Given the description of an element on the screen output the (x, y) to click on. 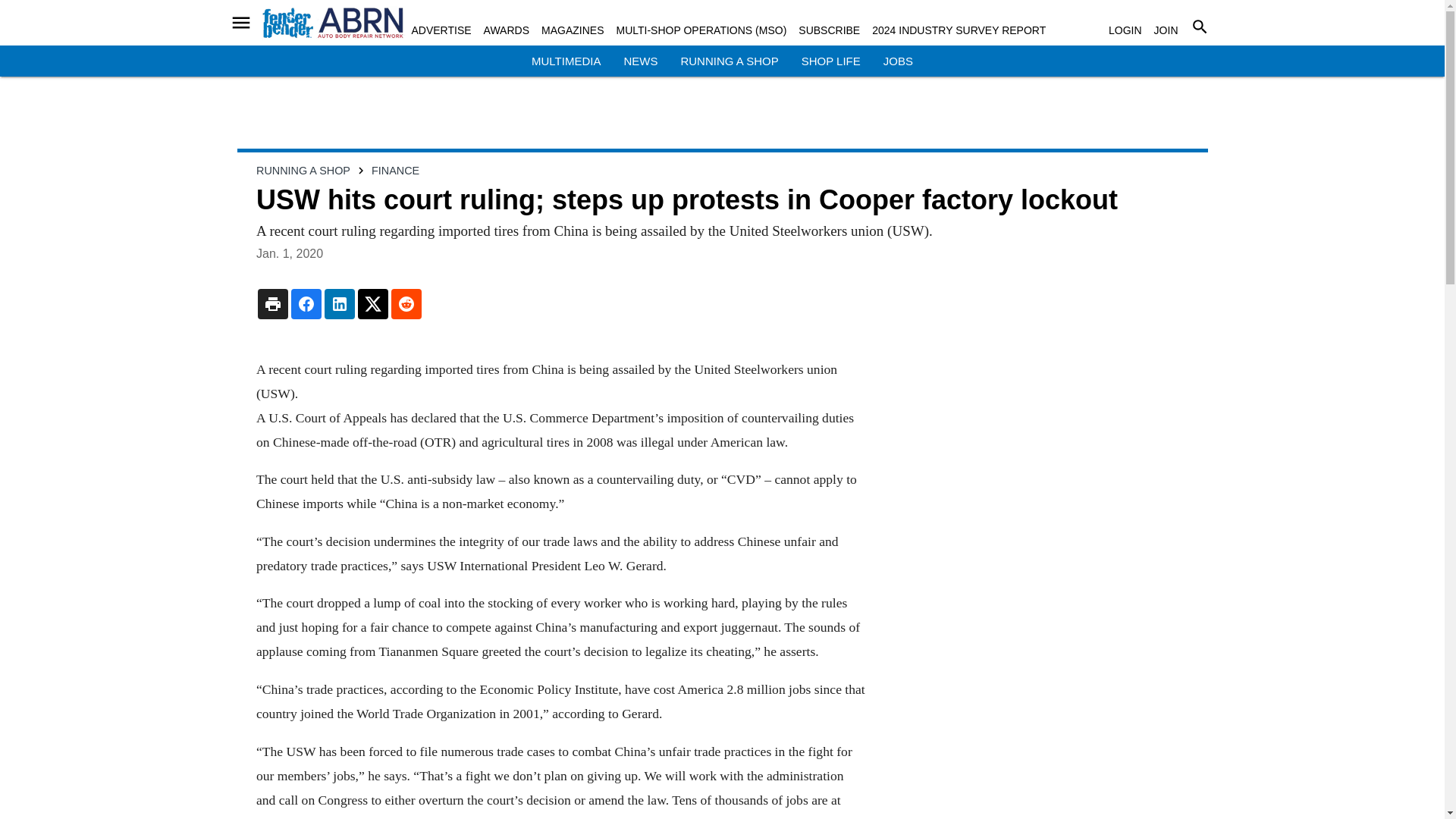
MAGAZINES (572, 30)
JOIN (1165, 30)
RUNNING A SHOP (728, 60)
2024 INDUSTRY SURVEY REPORT (958, 30)
MULTIMEDIA (565, 60)
NEWS (640, 60)
JOBS (897, 60)
SUBSCRIBE (828, 30)
LOGIN (1124, 30)
ADVERTISE (440, 30)
